Given the description of an element on the screen output the (x, y) to click on. 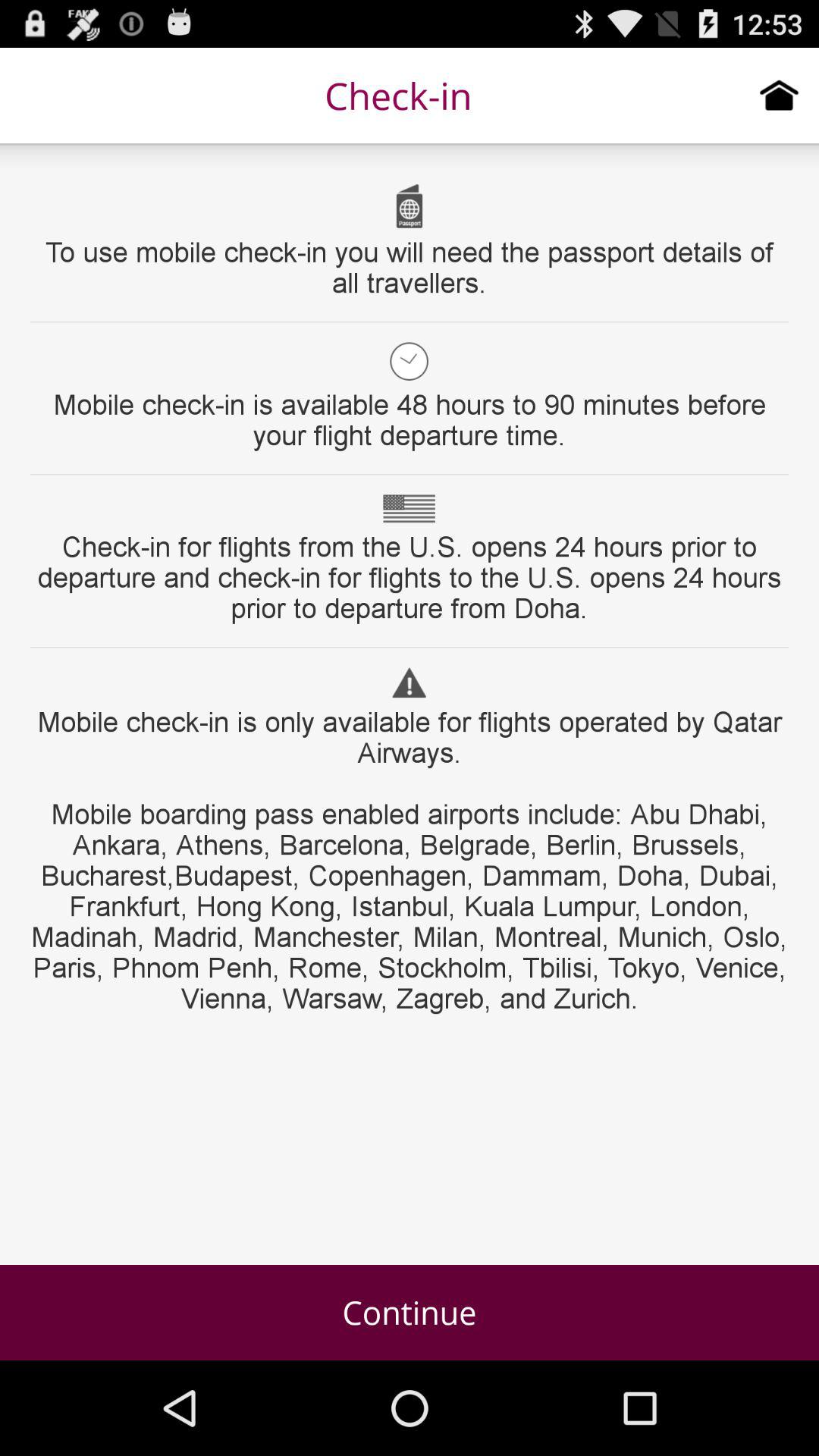
turn off icon to the right of check-in (779, 95)
